Given the description of an element on the screen output the (x, y) to click on. 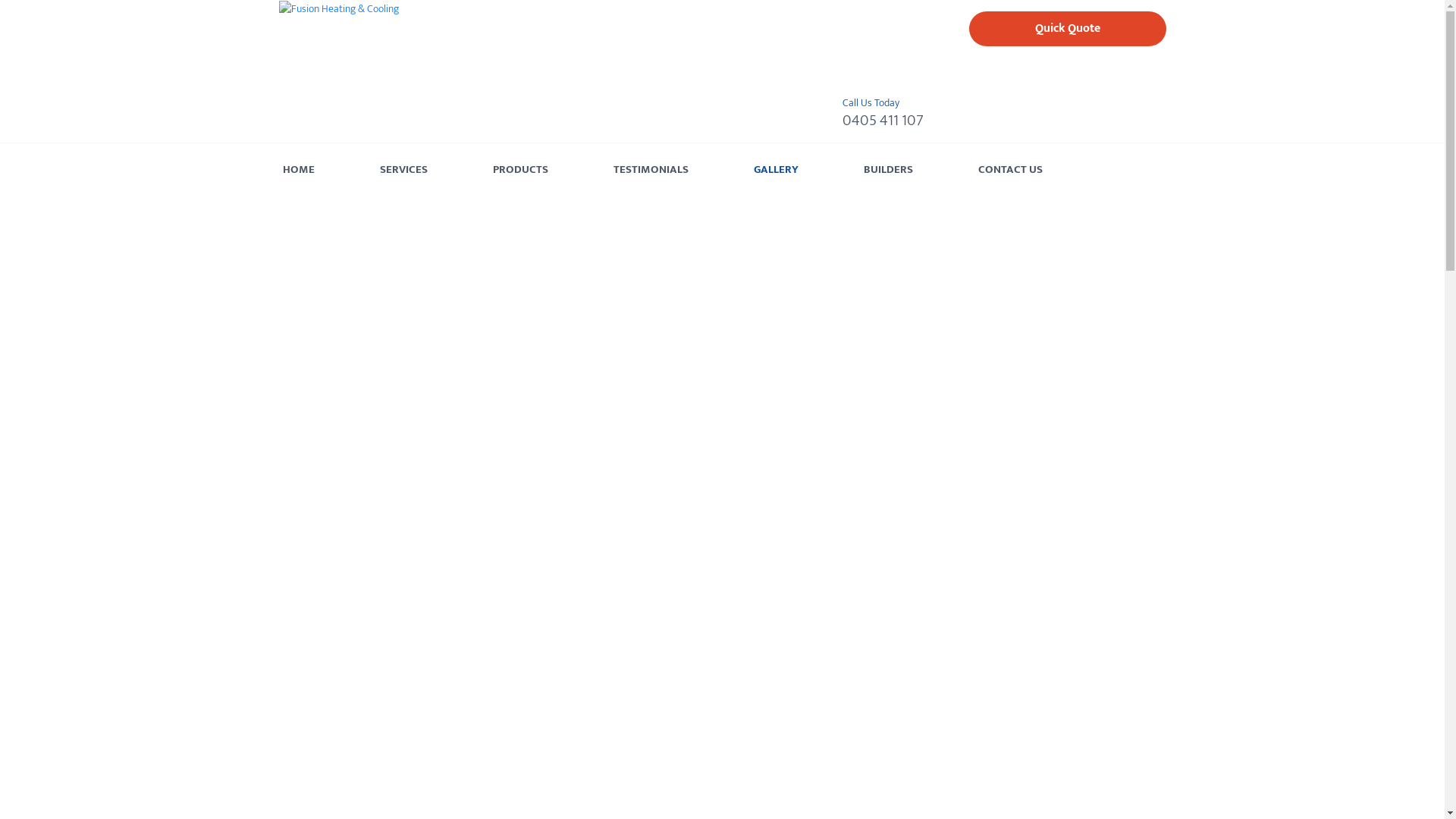
CONTACT US Element type: text (1010, 169)
BUILDERS Element type: text (887, 169)
PRODUCTS Element type: text (520, 169)
GALLERY Element type: text (775, 169)
Quick Quote Element type: text (1067, 28)
TESTIMONIALS Element type: text (649, 169)
SERVICES Element type: text (402, 169)
HOME Element type: text (297, 169)
0405 411 107 Element type: text (881, 120)
